Given the description of an element on the screen output the (x, y) to click on. 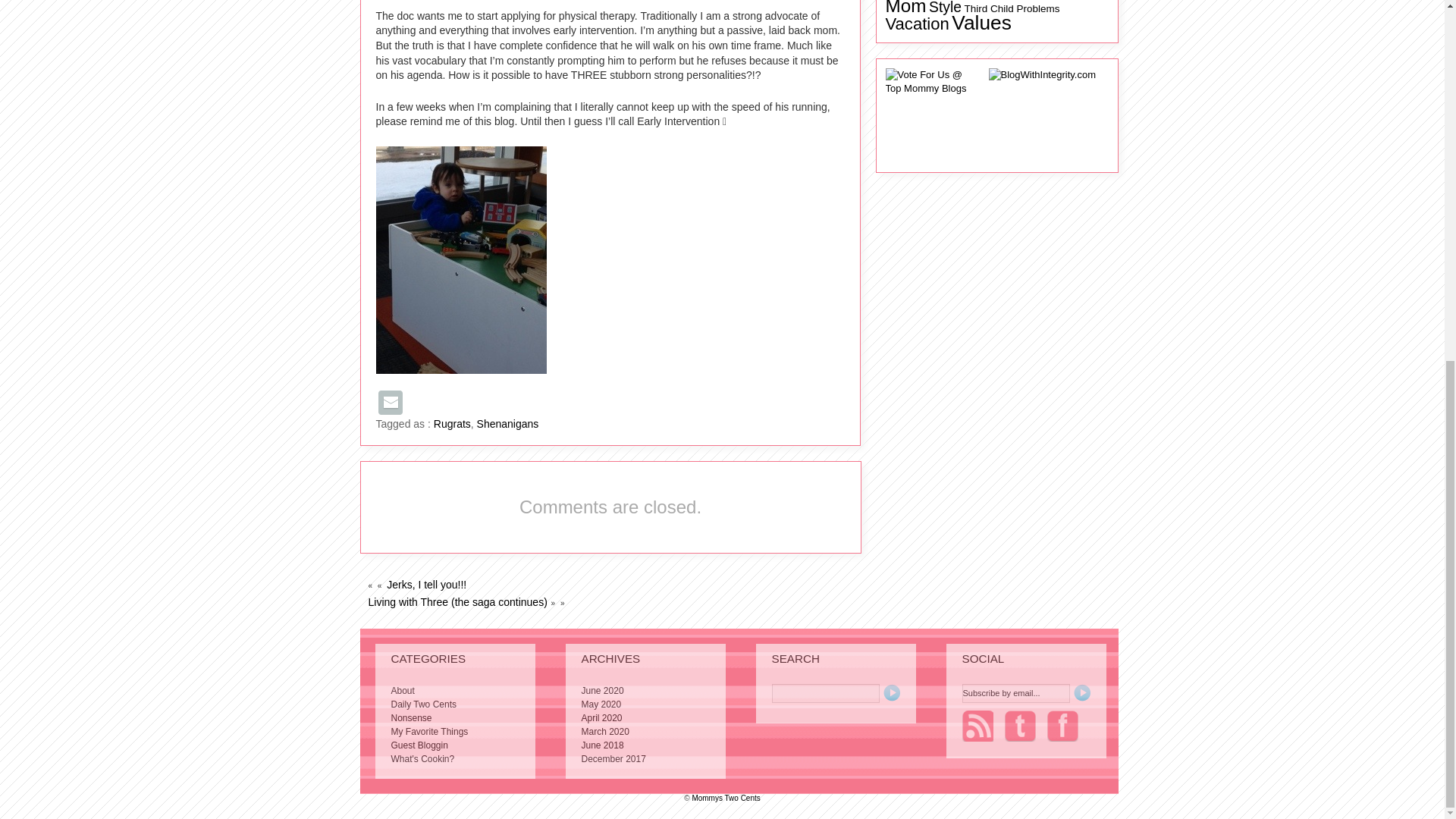
Rugrats (451, 423)
Subscribe by email... (1014, 692)
Jerks, I tell you!!! (426, 584)
Shenanigans (507, 423)
